Given the description of an element on the screen output the (x, y) to click on. 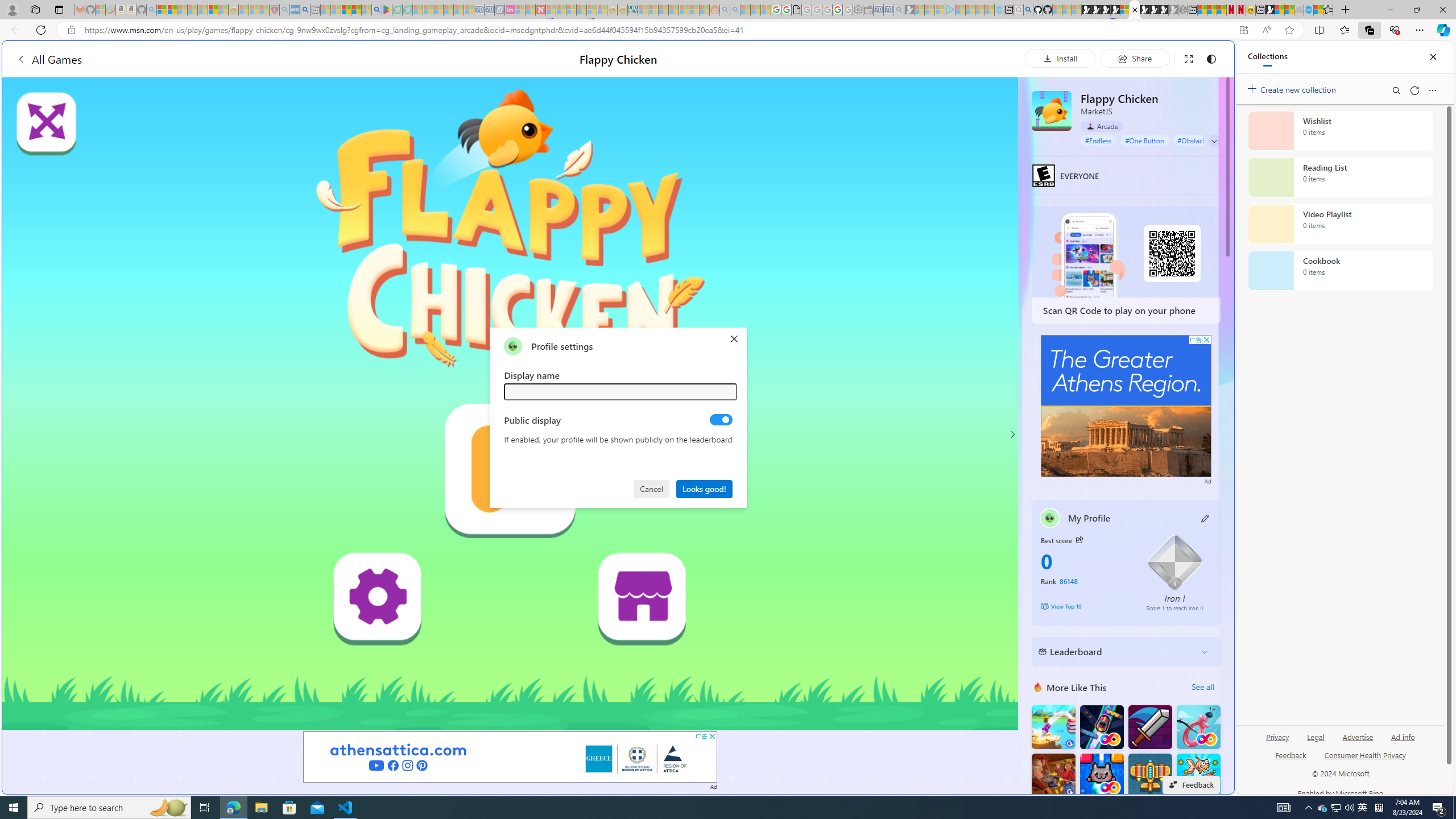
Create new collection (1293, 87)
View Top 10 (1085, 605)
Video Playlist collection, 0 items (1339, 223)
